Given the description of an element on the screen output the (x, y) to click on. 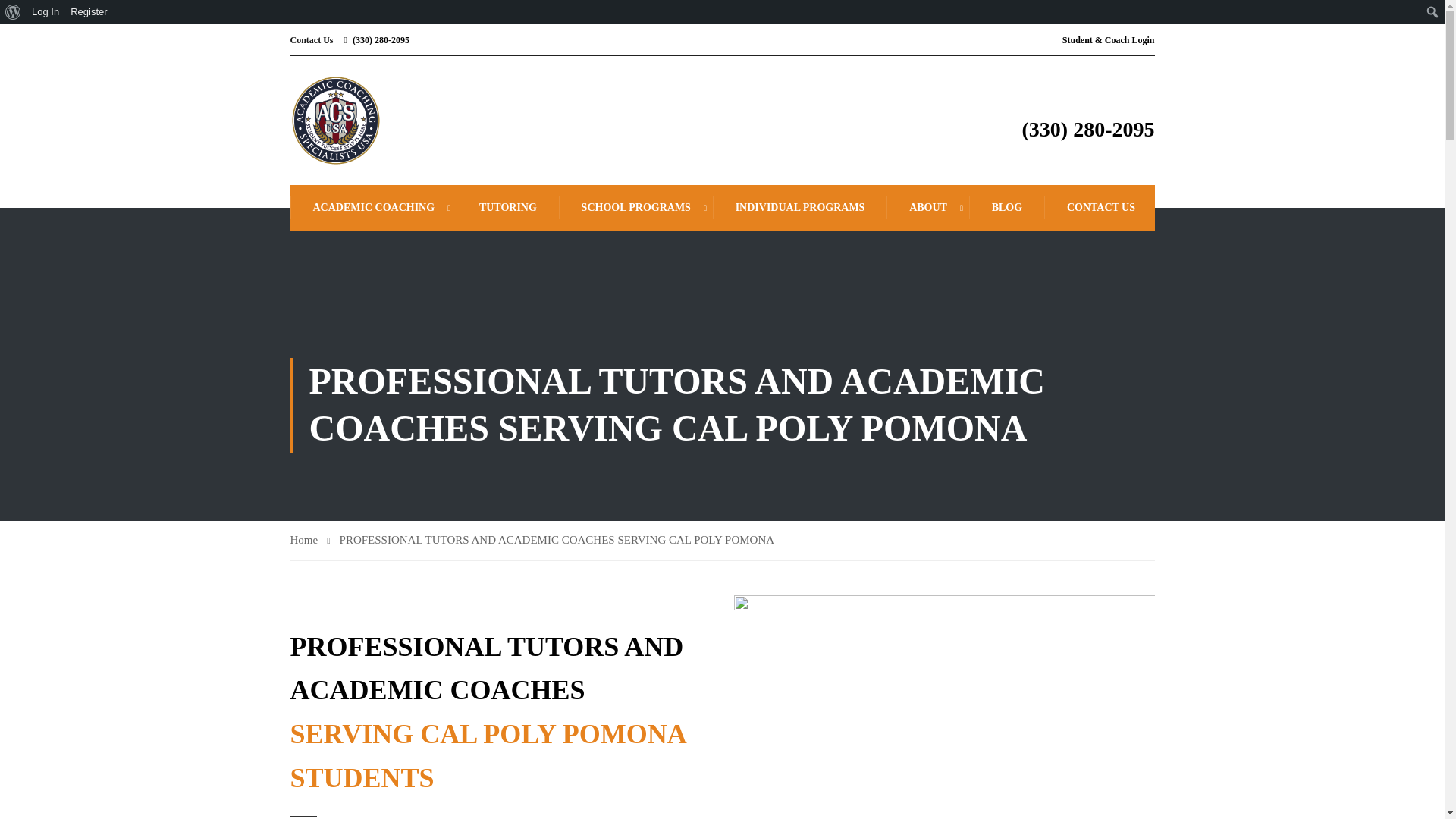
AcademicCoachingSpecialists - Academic Coaching Specialists (334, 120)
Search (15, 12)
Log In (45, 12)
Cal-Poly-Pomona-rose-garden (943, 707)
Register (89, 12)
